Given the description of an element on the screen output the (x, y) to click on. 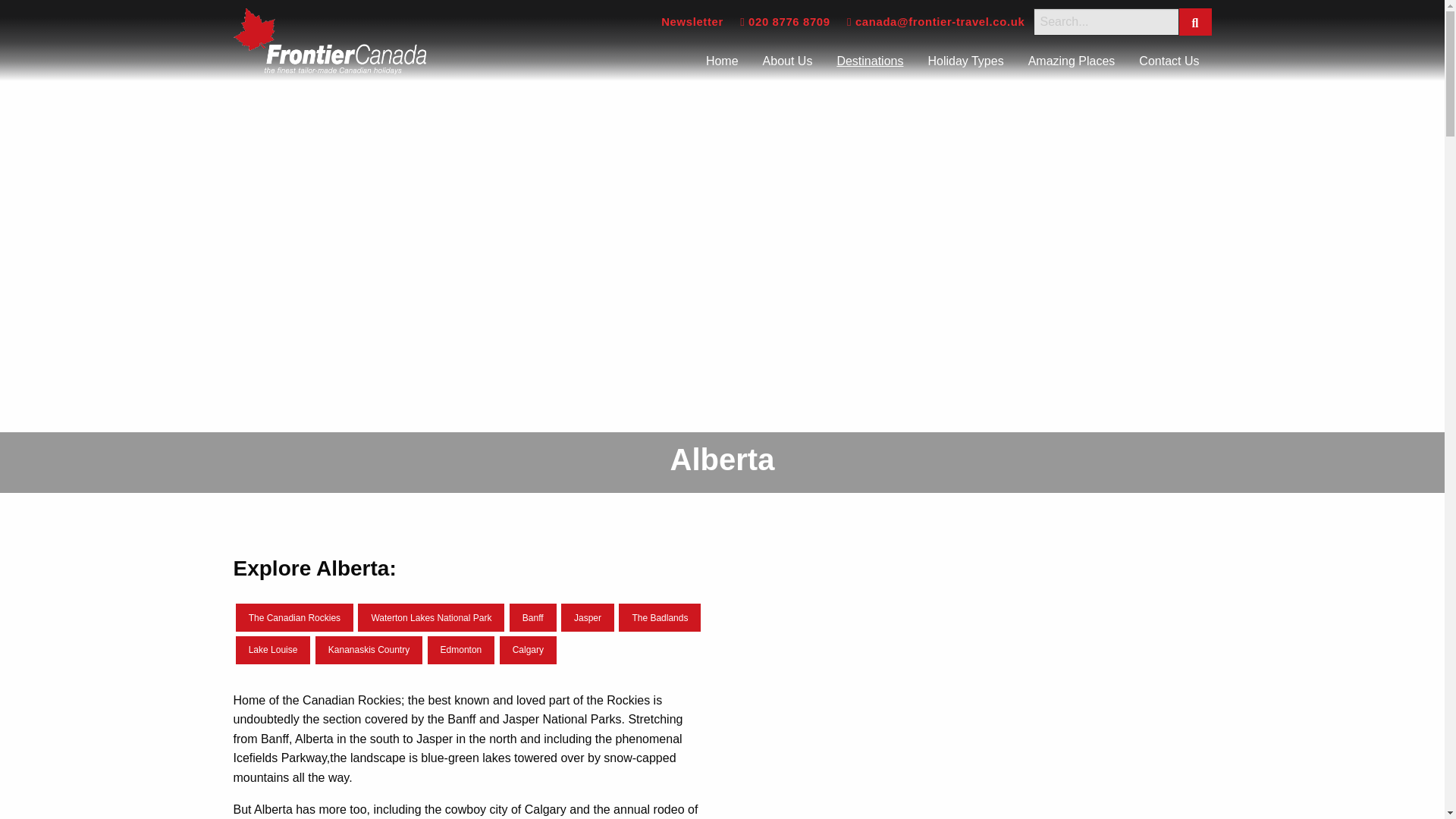
Search for: (1104, 22)
Frontier Canada (329, 40)
